Given the description of an element on the screen output the (x, y) to click on. 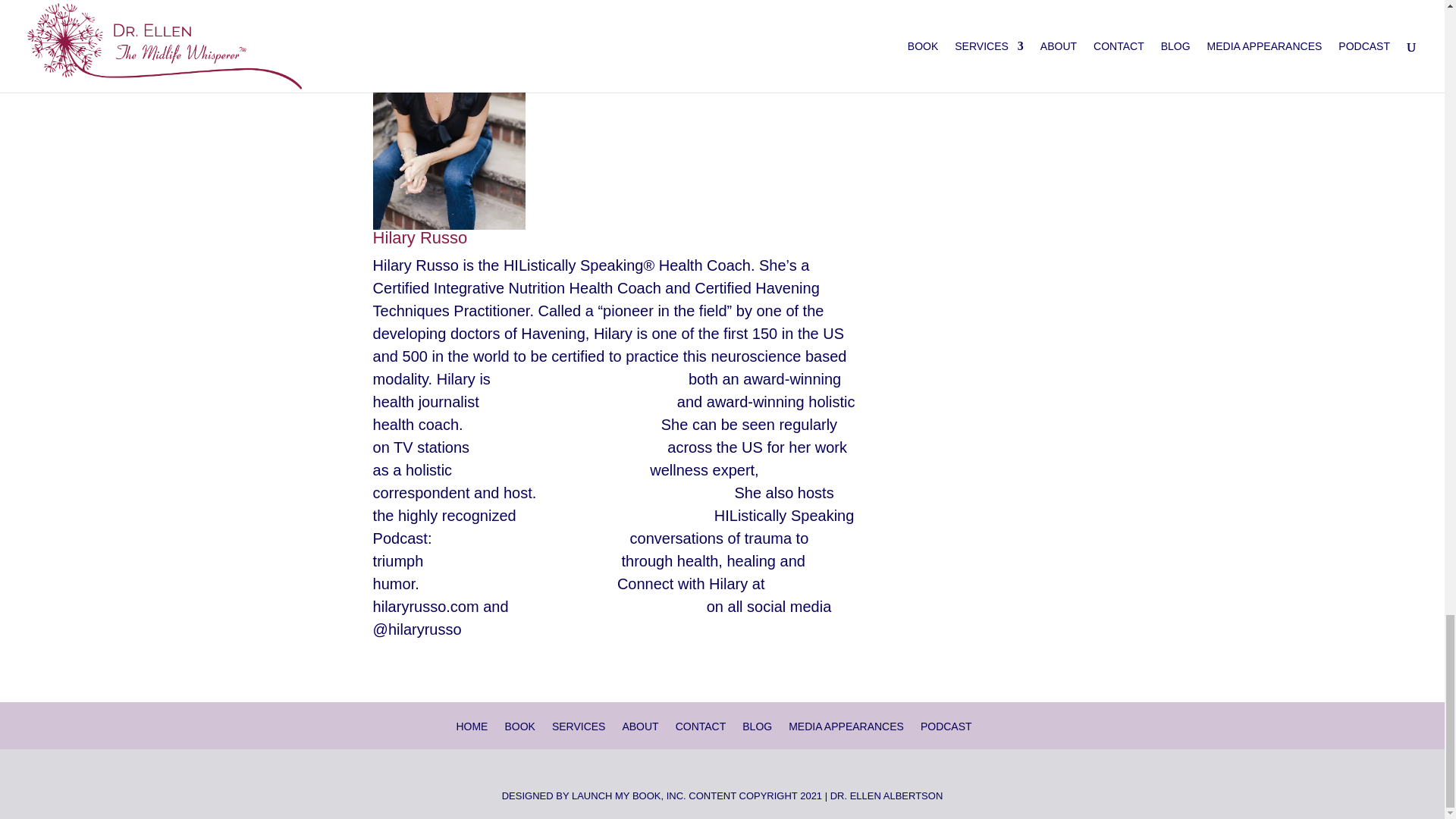
HOME (471, 726)
LAUNCH MY BOOK, INC. (628, 795)
BOOK (518, 726)
MEDIA APPEARANCES (846, 726)
BLOG (756, 726)
PODCAST (946, 726)
SERVICES (578, 726)
CONTACT (700, 726)
ABOUT (639, 726)
